Given the description of an element on the screen output the (x, y) to click on. 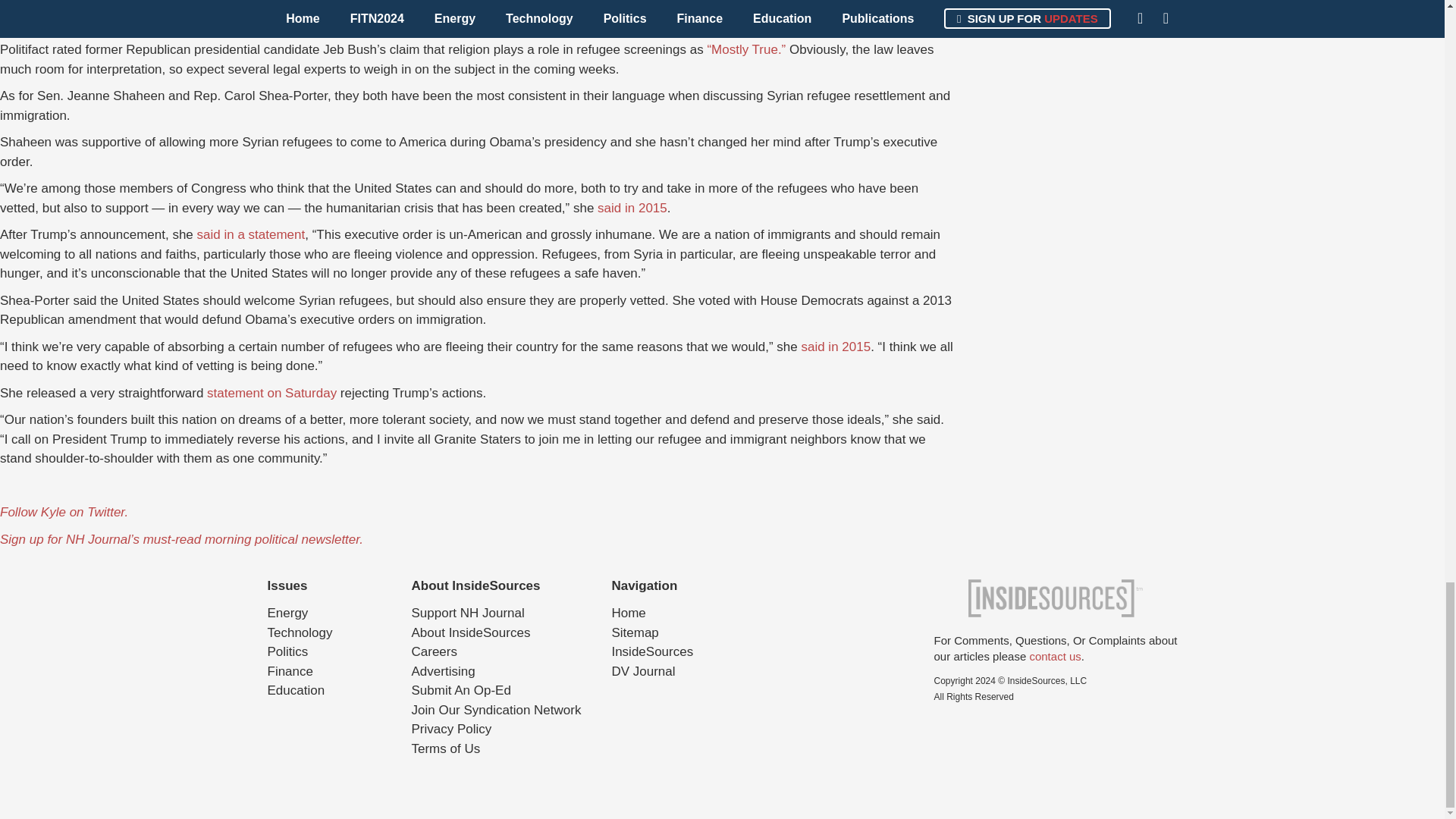
said in 2015 (631, 207)
said in 2015 (835, 346)
statement on Saturday (271, 392)
said in a statement (250, 234)
Follow Kyle on Twitter. (64, 512)
National Review has an extensive piece (728, 30)
